Given the description of an element on the screen output the (x, y) to click on. 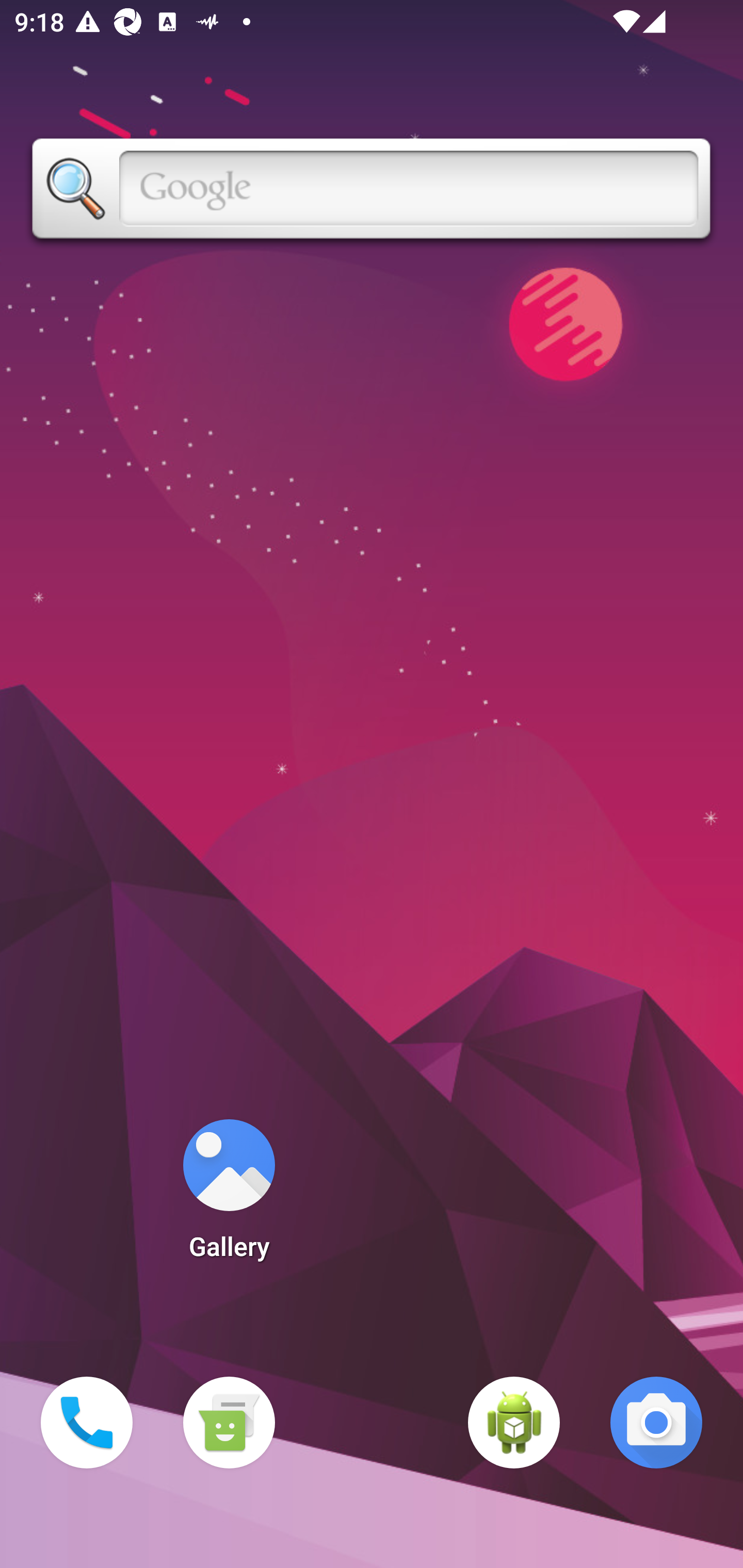
Gallery (228, 1195)
Phone (86, 1422)
Messaging (228, 1422)
WebView Browser Tester (513, 1422)
Camera (656, 1422)
